Given the description of an element on the screen output the (x, y) to click on. 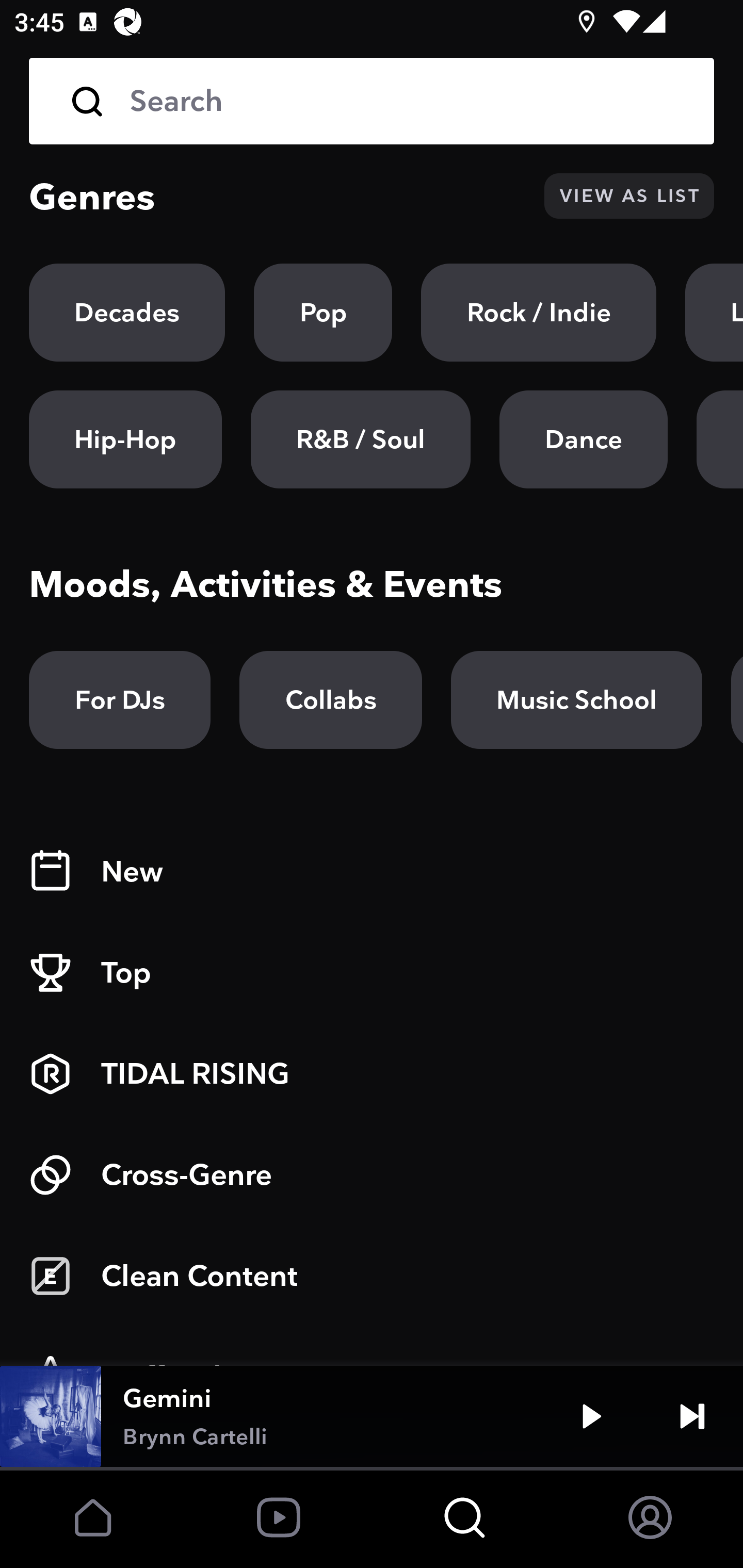
Search (371, 101)
Search (407, 100)
VIEW AS LIST (629, 195)
Decades (126, 312)
Pop (323, 312)
Rock / Indie (538, 312)
Hip-Hop (125, 439)
R&B / Soul (360, 439)
Dance (583, 439)
For DJs (119, 699)
Collabs (330, 699)
Music School (576, 699)
New (371, 871)
Top (371, 972)
TIDAL RISING (371, 1073)
Cross-Genre (371, 1175)
Clean Content (371, 1276)
Gemini Brynn Cartelli Play (371, 1416)
Play (590, 1416)
